Given the description of an element on the screen output the (x, y) to click on. 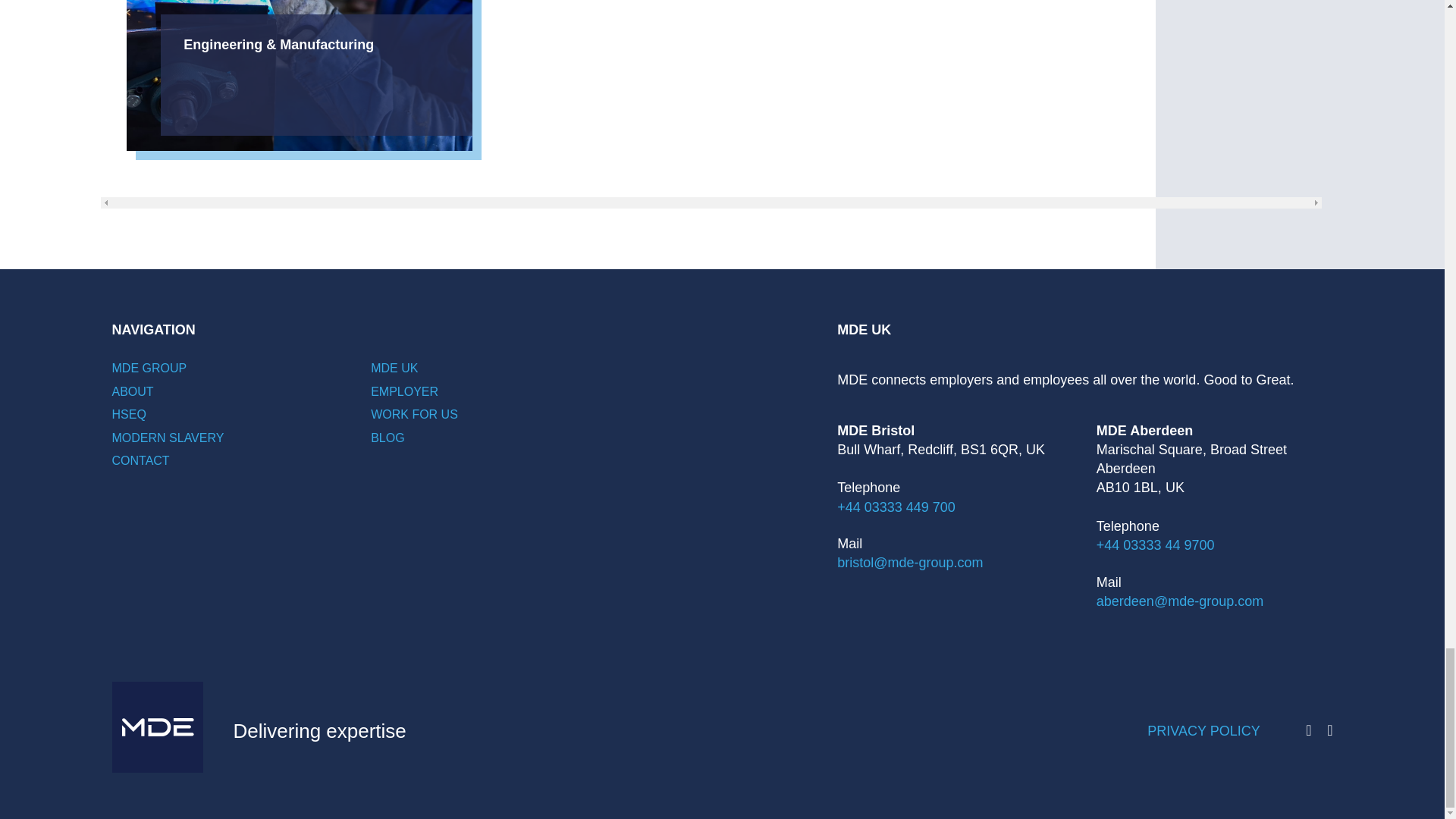
MDE GROUP (149, 367)
MDE UK (394, 367)
ABOUT (133, 391)
